Given the description of an element on the screen output the (x, y) to click on. 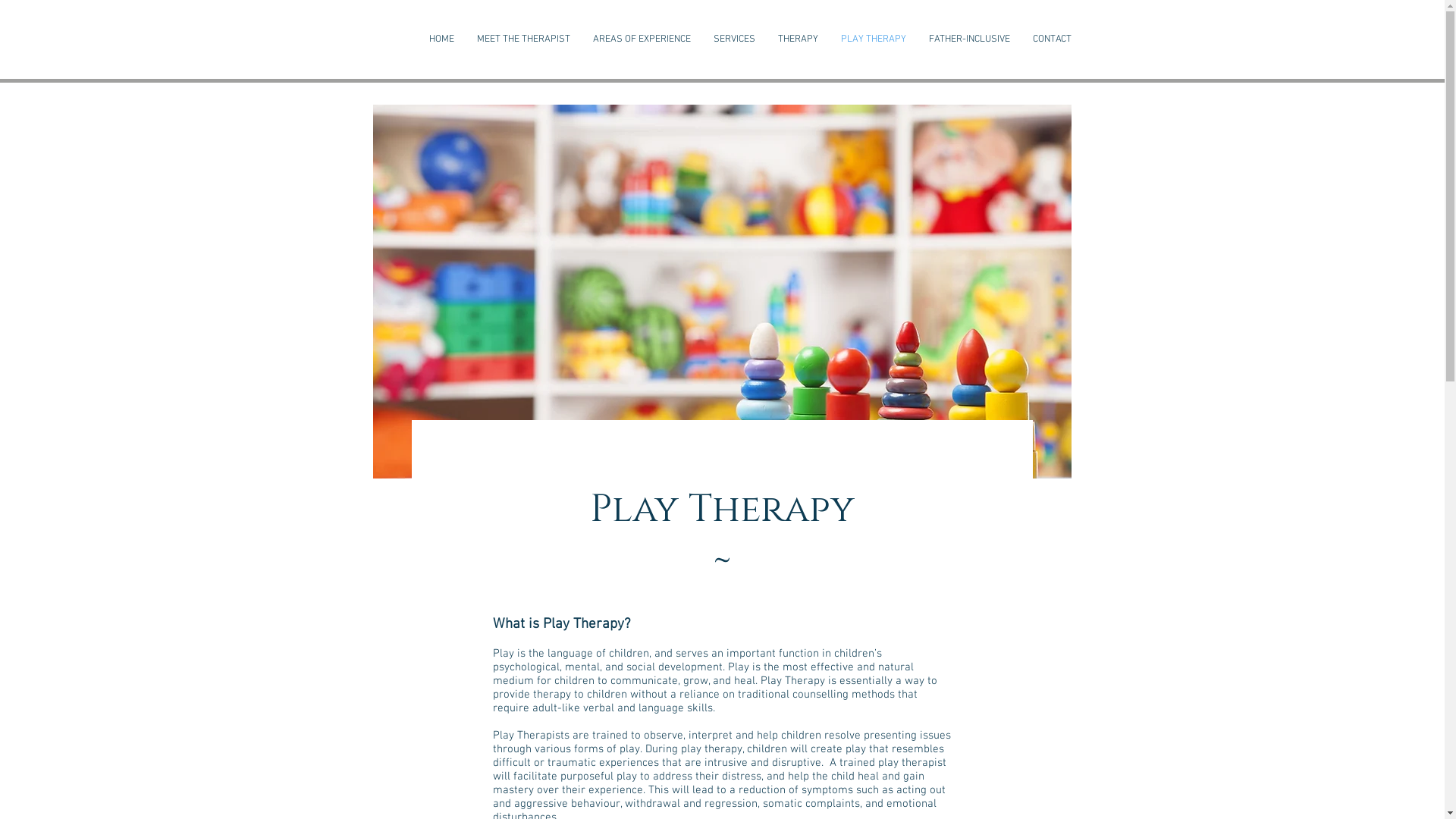
MEET THE THERAPIST Element type: text (523, 39)
AREAS OF EXPERIENCE Element type: text (640, 39)
THERAPY Element type: text (796, 39)
SERVICES Element type: text (734, 39)
PLAY THERAPY Element type: text (873, 39)
HOME Element type: text (440, 39)
CONTACT Element type: text (1051, 39)
FATHER-INCLUSIVE Element type: text (969, 39)
